Given the description of an element on the screen output the (x, y) to click on. 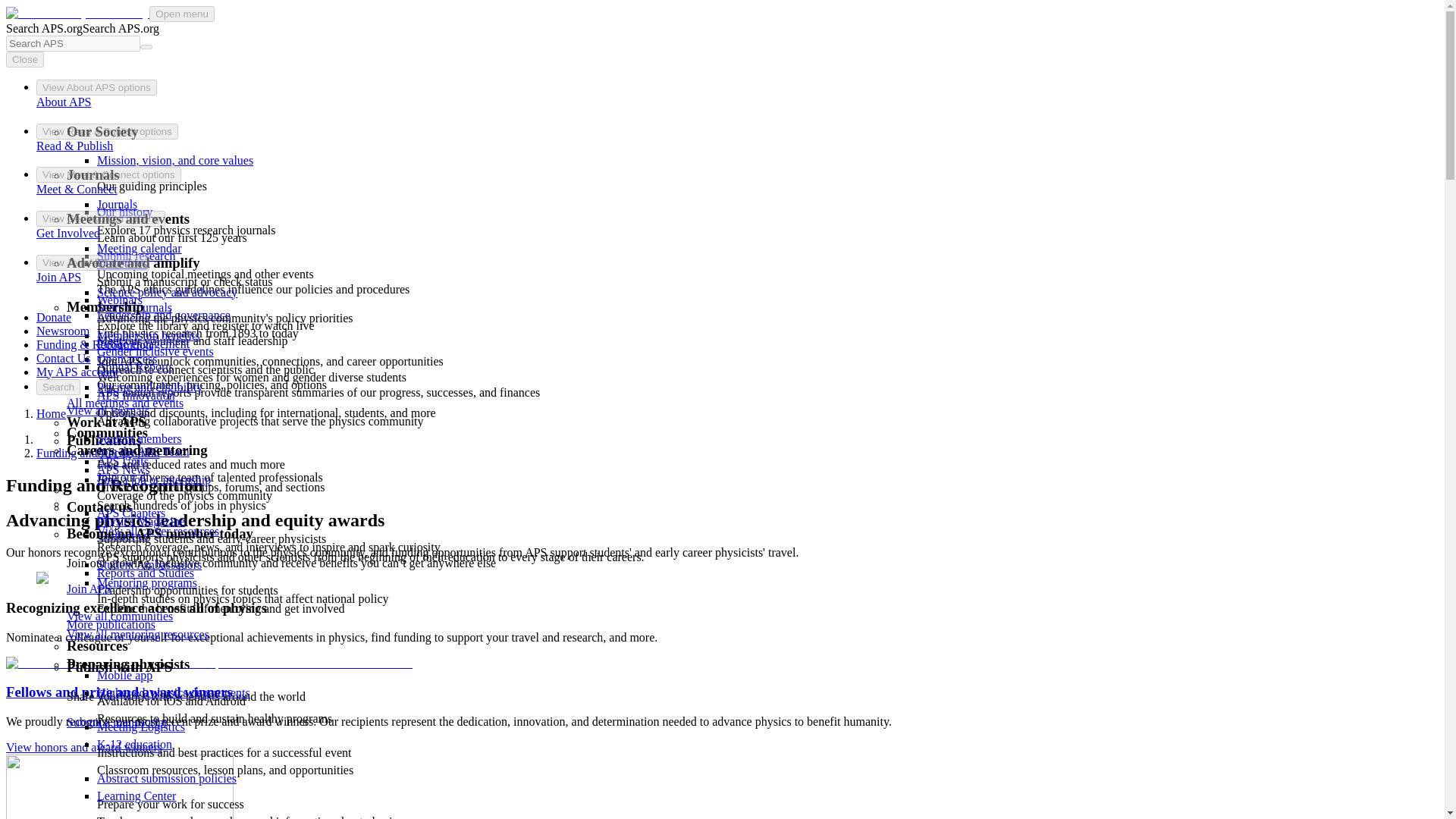
APS News (123, 469)
Search journals (134, 307)
About APS (63, 101)
Journals (116, 204)
Contact us (122, 535)
Join the APS Team (143, 451)
Meeting Logistics (140, 726)
Annual Reports (135, 366)
Mobile app (124, 675)
Submit research (136, 255)
Gender inclusive events (155, 350)
Reports and Studies (145, 572)
More publications (110, 624)
APS Units (122, 461)
Submit a manuscript (116, 721)
